Given the description of an element on the screen output the (x, y) to click on. 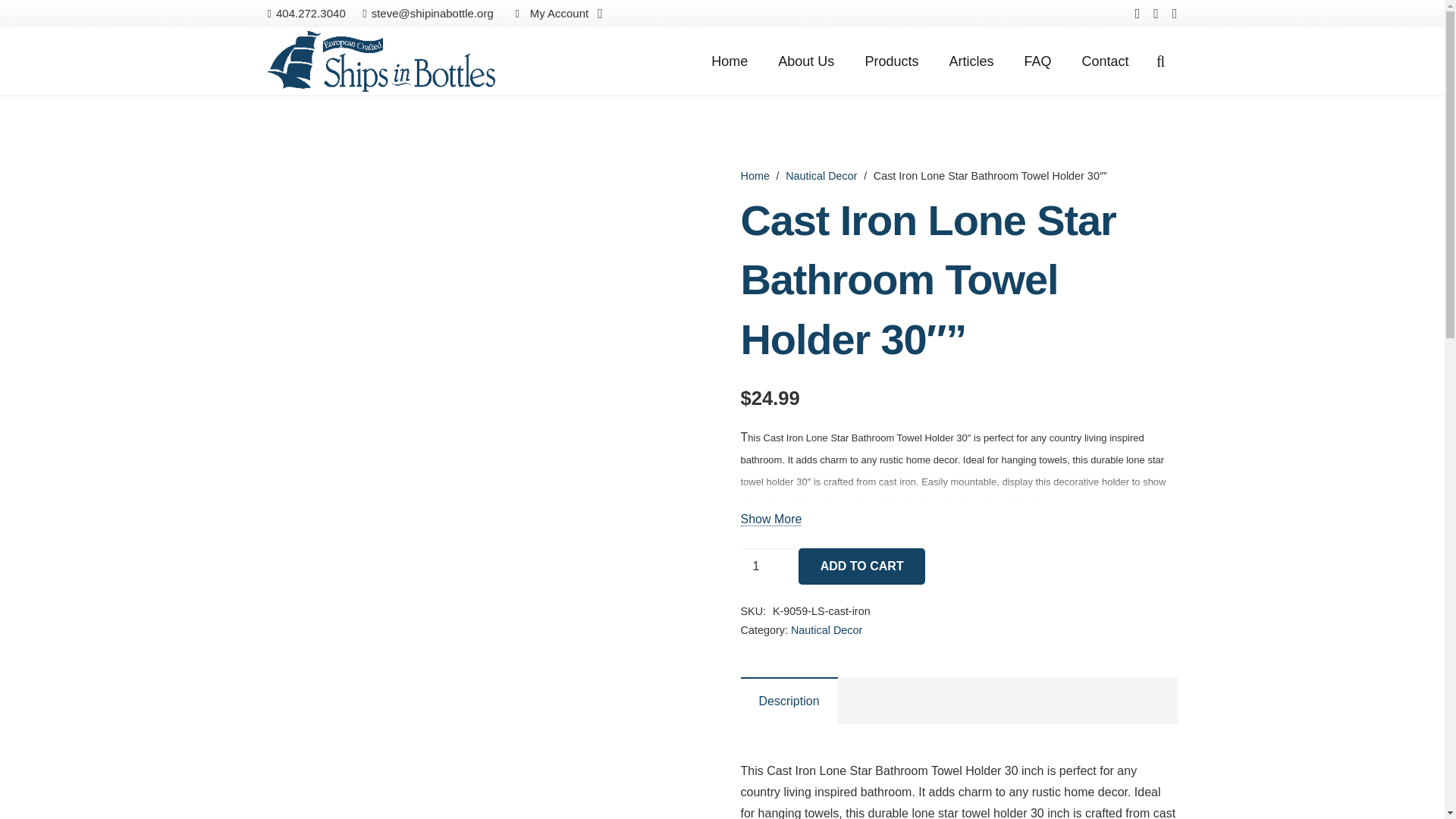
1 (766, 565)
My Account (555, 13)
Description (788, 700)
Products (890, 61)
Show More (770, 519)
Home (753, 175)
ADD TO CART (861, 565)
Articles (971, 61)
404.272.3040 (305, 12)
Home (728, 61)
Contact (1103, 61)
Nautical Decor (821, 175)
About Us (805, 61)
Nautical Decor (825, 630)
